Given the description of an element on the screen output the (x, y) to click on. 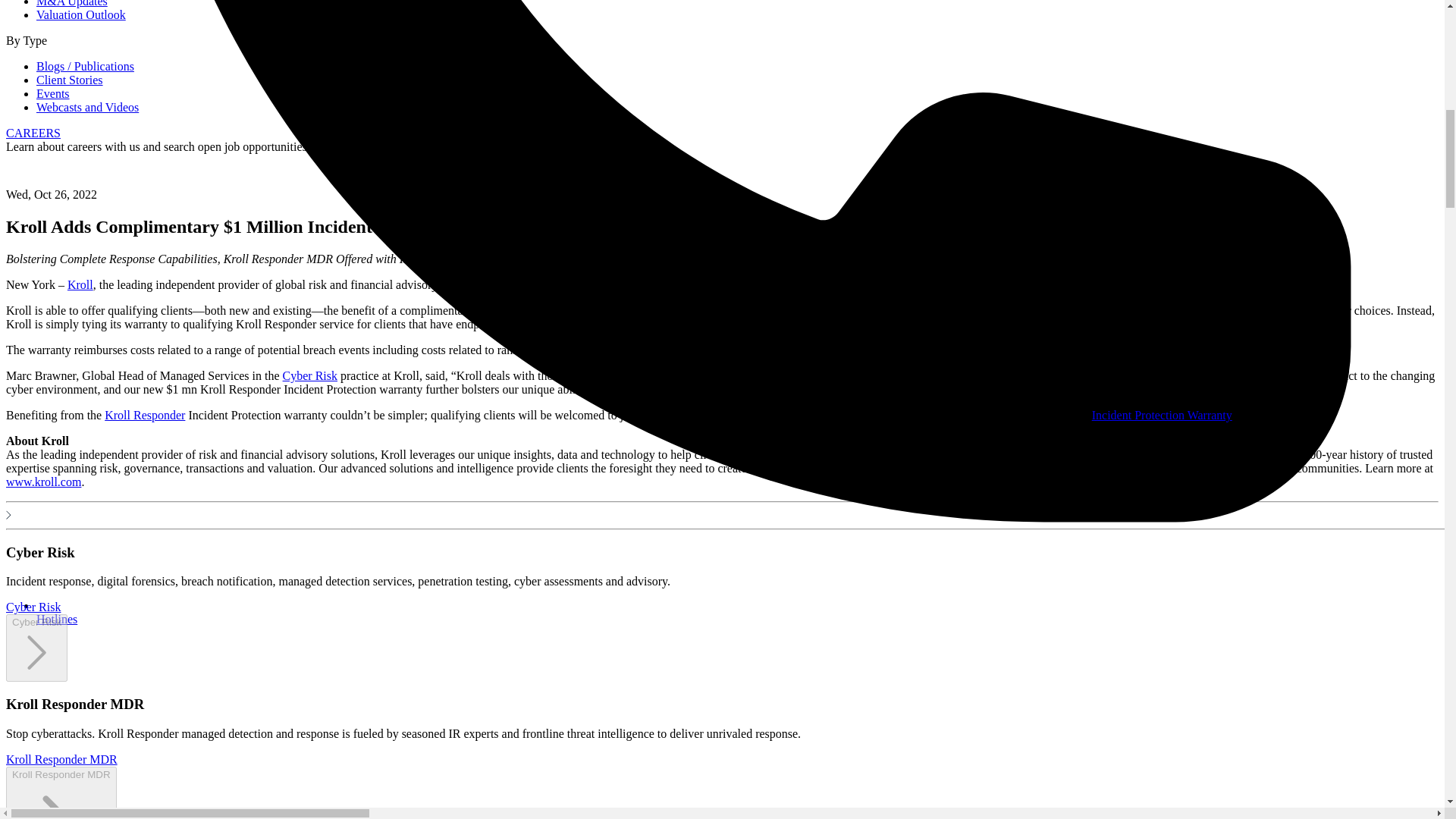
Hotlines (56, 618)
Phone (56, 618)
